Given the description of an element on the screen output the (x, y) to click on. 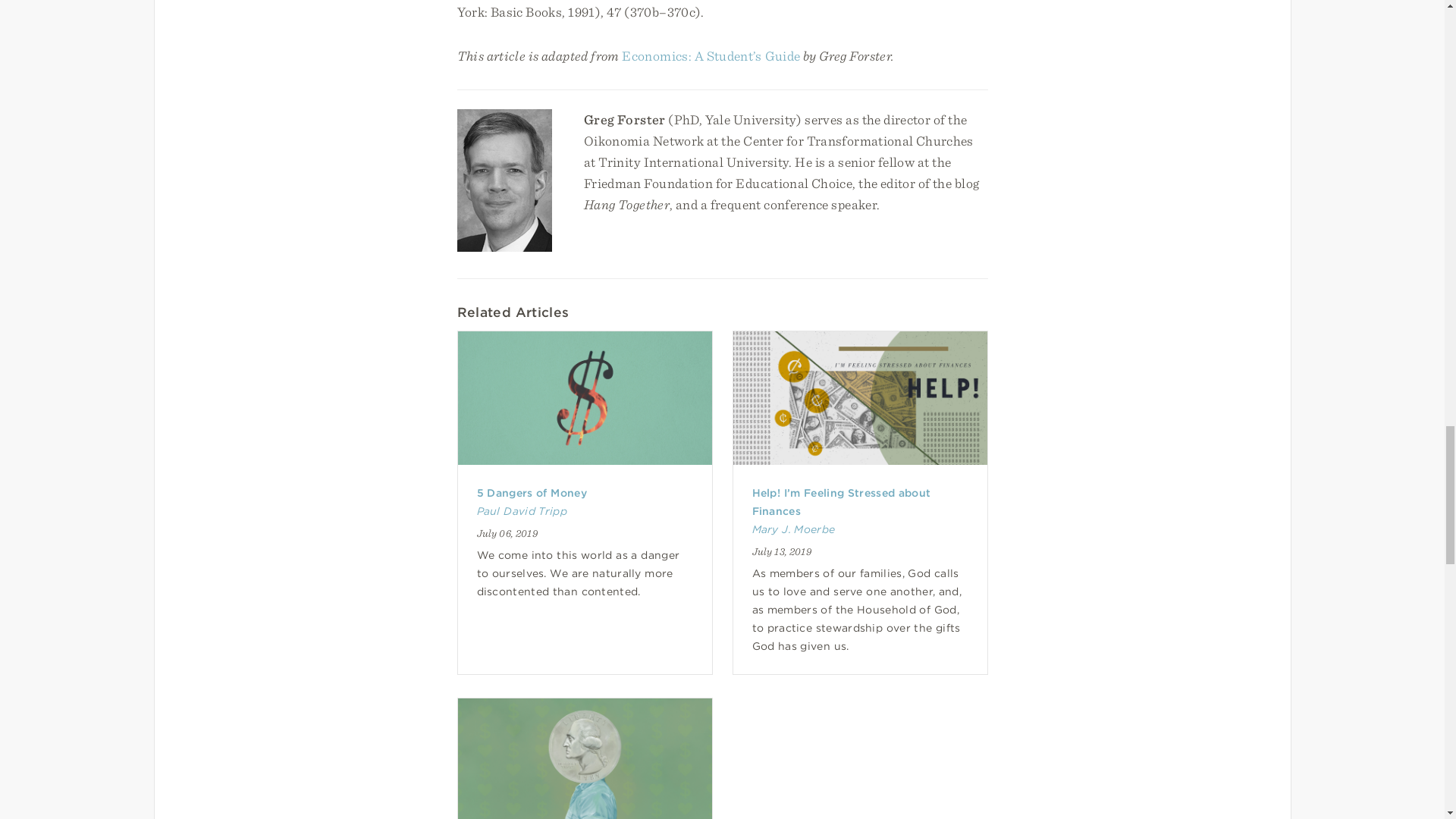
5 Dangers of Money (531, 492)
Mary J. Moerbe (793, 529)
Paul David Tripp (521, 510)
